Given the description of an element on the screen output the (x, y) to click on. 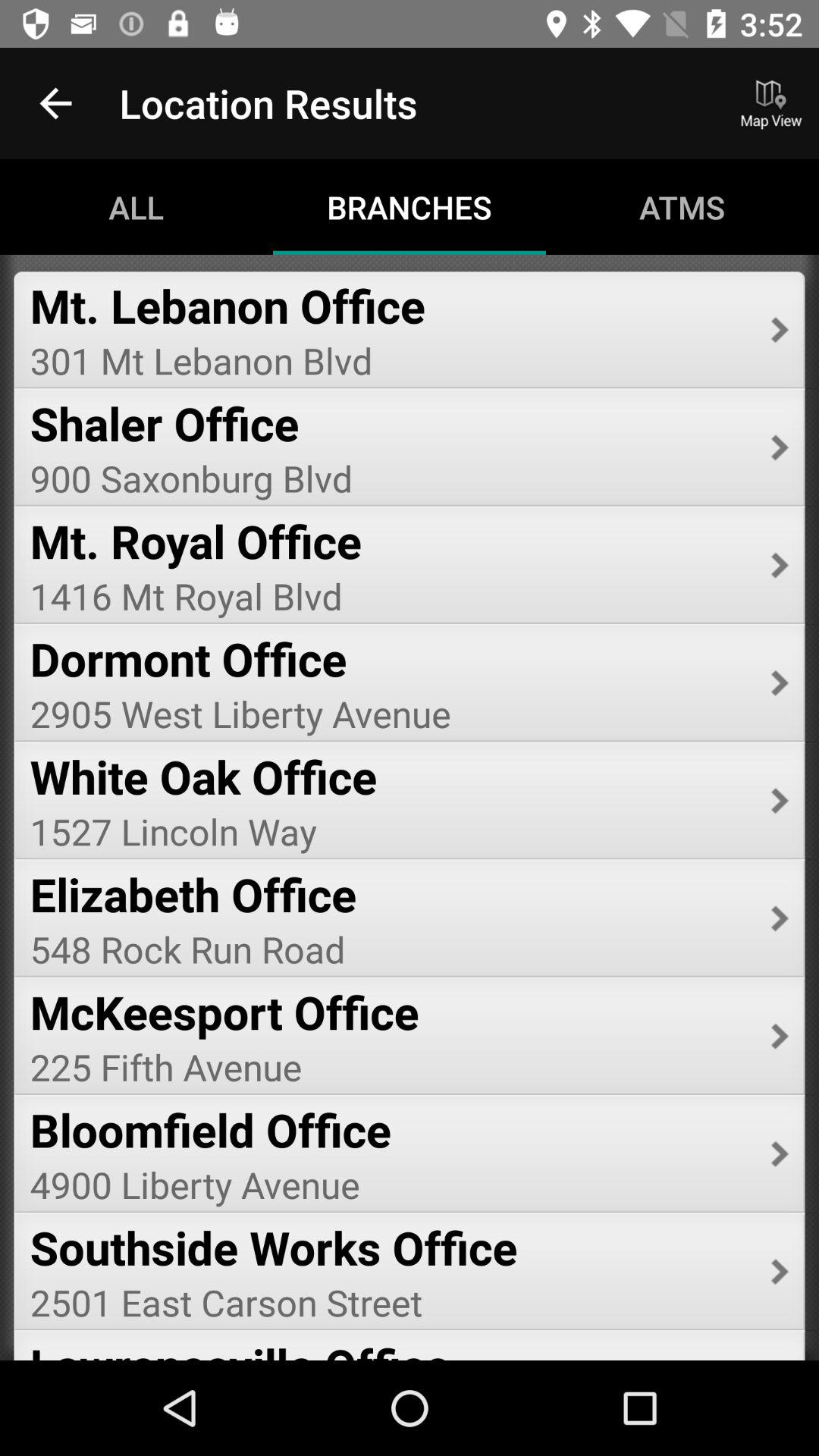
choose icon above the southside works office (390, 1184)
